Given the description of an element on the screen output the (x, y) to click on. 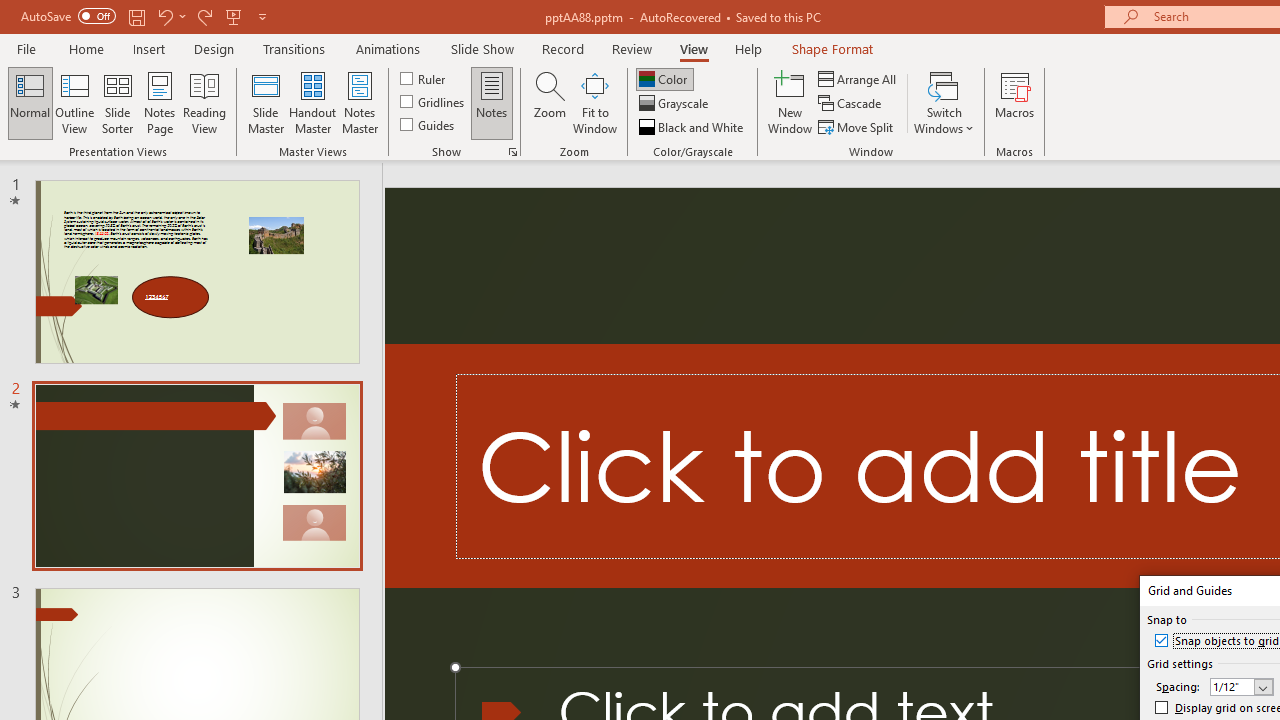
New Window (790, 102)
Notes (492, 102)
Gridlines (433, 101)
Guides (428, 124)
Color (664, 78)
Ruler (423, 78)
Handout Master (312, 102)
Notes Page (159, 102)
